Given the description of an element on the screen output the (x, y) to click on. 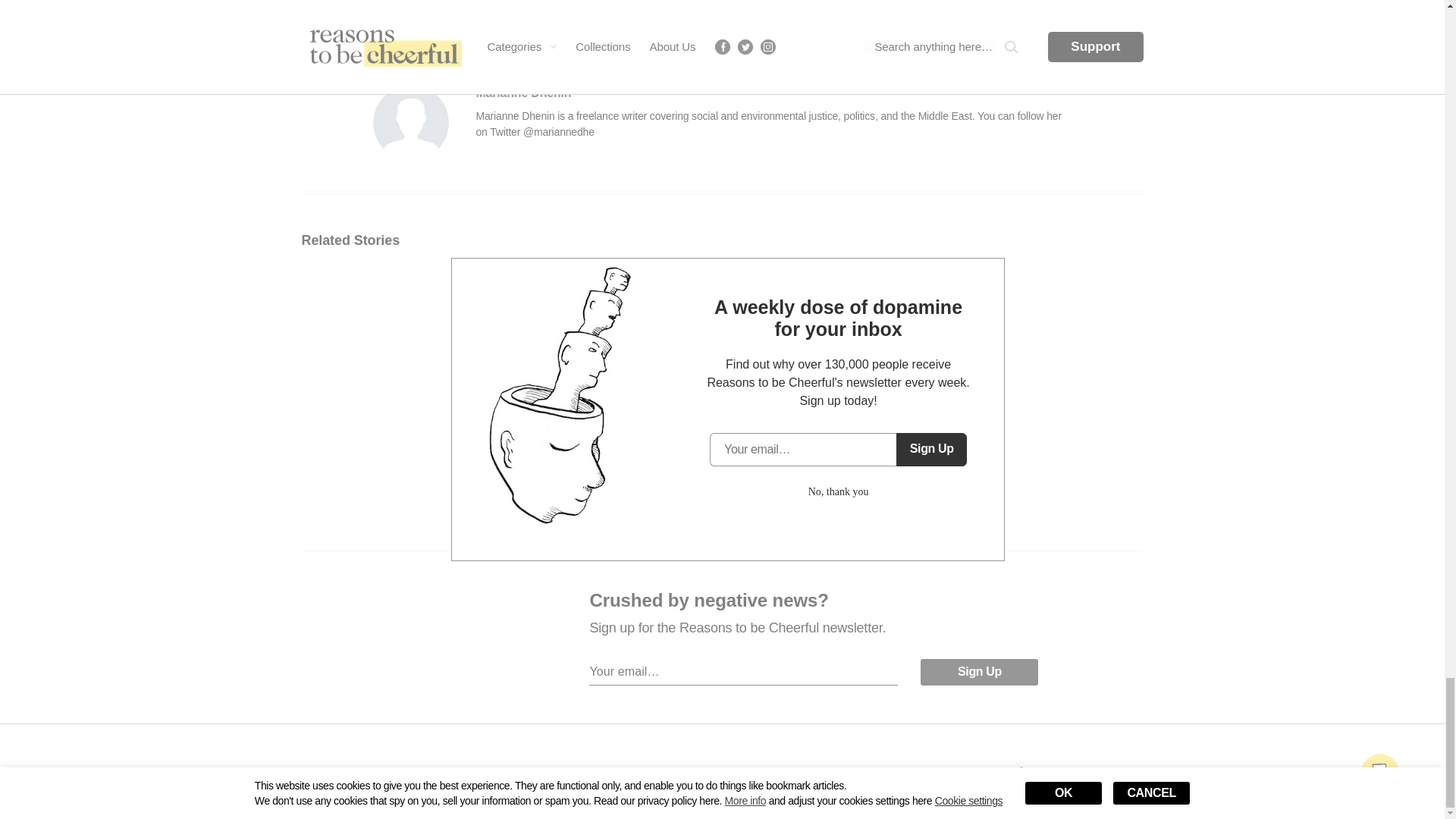
Sign Up (979, 672)
Posts by Marianne Dhenin (523, 92)
